Given the description of an element on the screen output the (x, y) to click on. 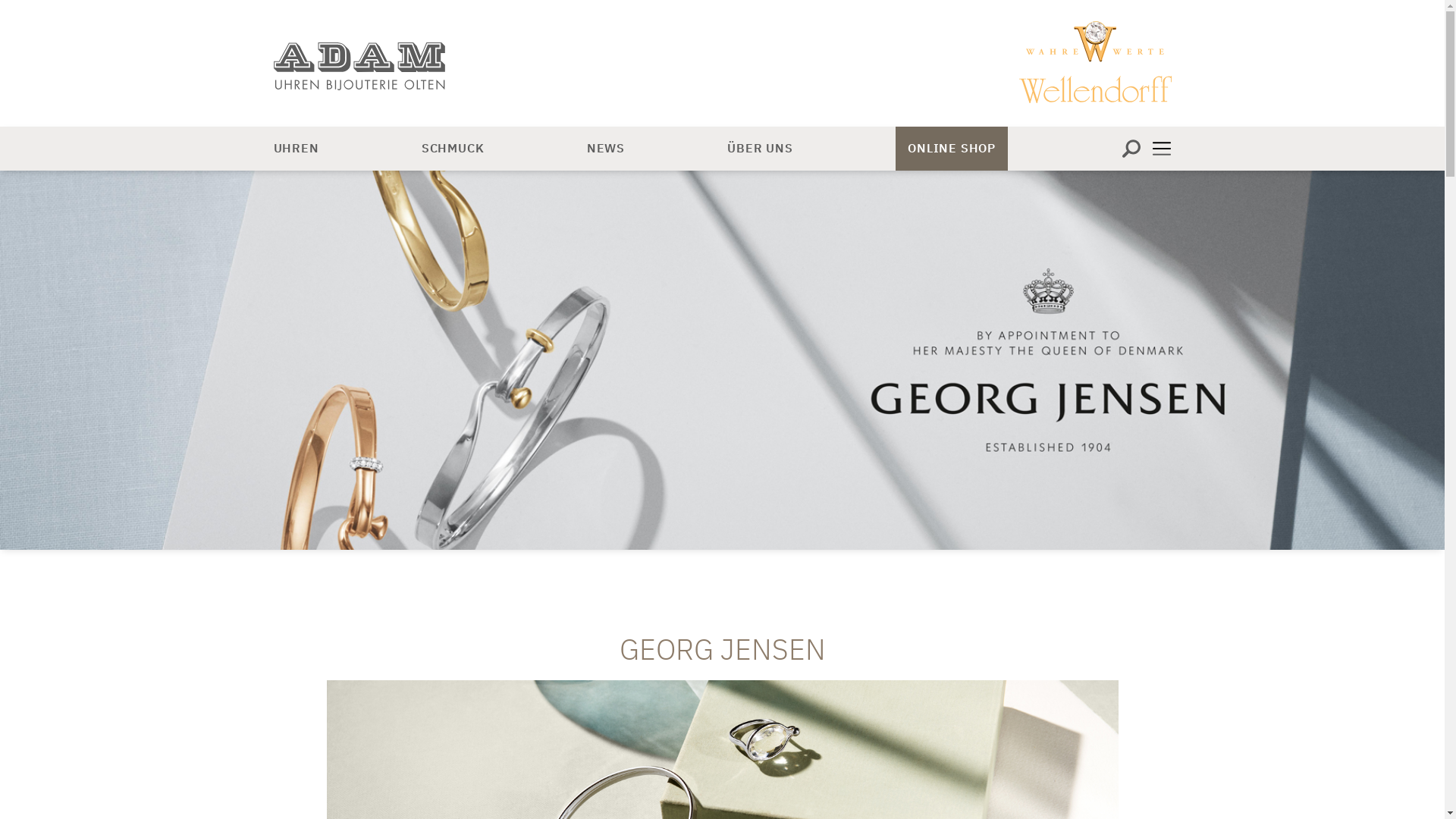
UHREN Element type: text (295, 148)
ONLINE SHOP Element type: text (951, 148)
NEWS Element type: text (605, 148)
SCHMUCK Element type: text (452, 148)
